Given the description of an element on the screen output the (x, y) to click on. 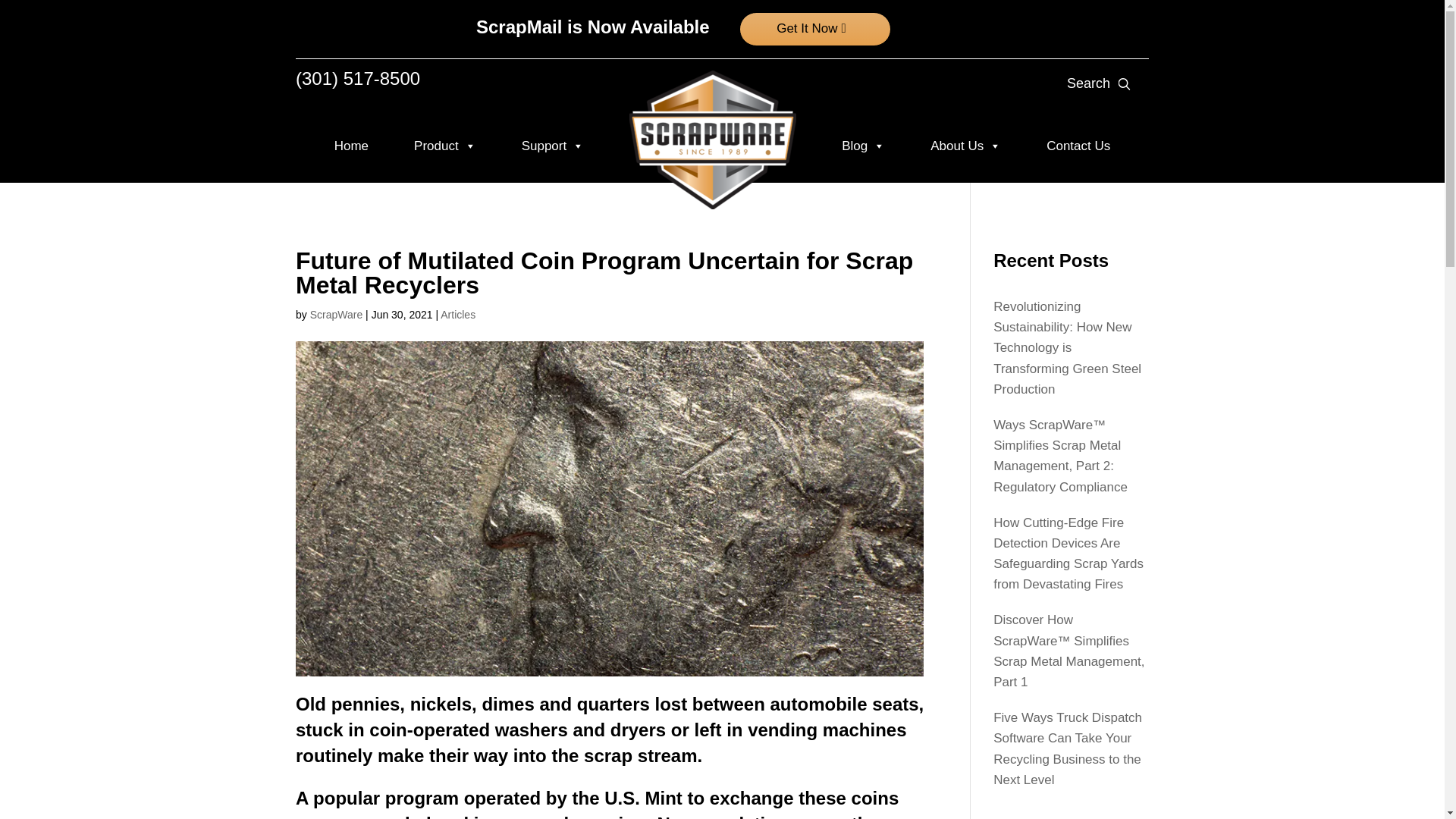
Posts by ScrapWare (336, 314)
Search (11, 7)
Home (351, 146)
Get It Now (815, 28)
Product (444, 146)
